Given the description of an element on the screen output the (x, y) to click on. 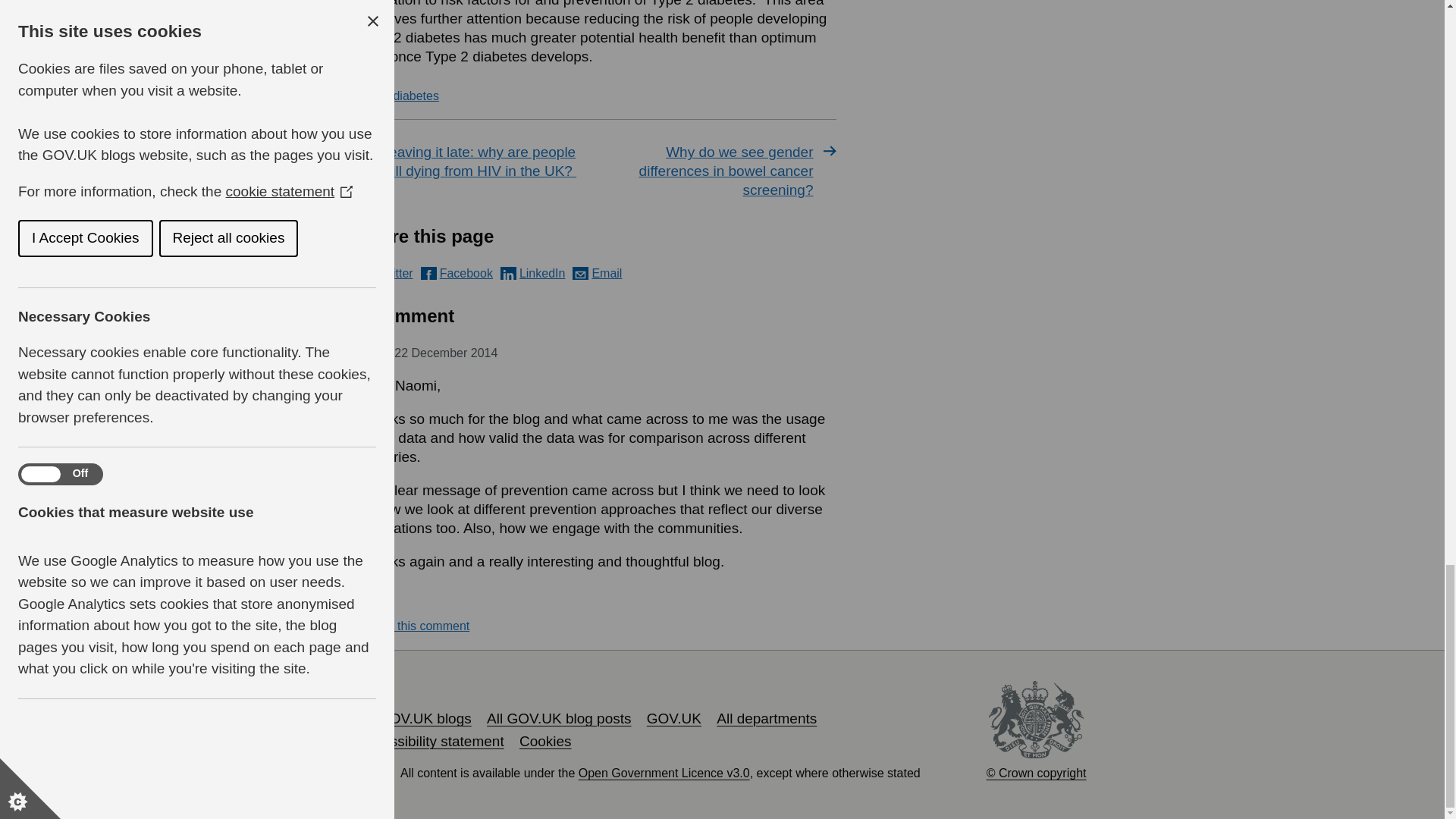
GOV.UK (673, 718)
Link to this comment (413, 626)
All GOV.UK blog posts (558, 718)
diabetes (416, 95)
Accessibility statement (430, 741)
All departments (766, 718)
Twitter (385, 273)
Facebook (456, 273)
Cookies (545, 741)
Email (596, 273)
All GOV.UK blogs (414, 718)
Why do we see gender differences in bowel cancer screening? (718, 170)
LinkedIn (533, 273)
Open Government Licence v3.0 (663, 772)
